Given the description of an element on the screen output the (x, y) to click on. 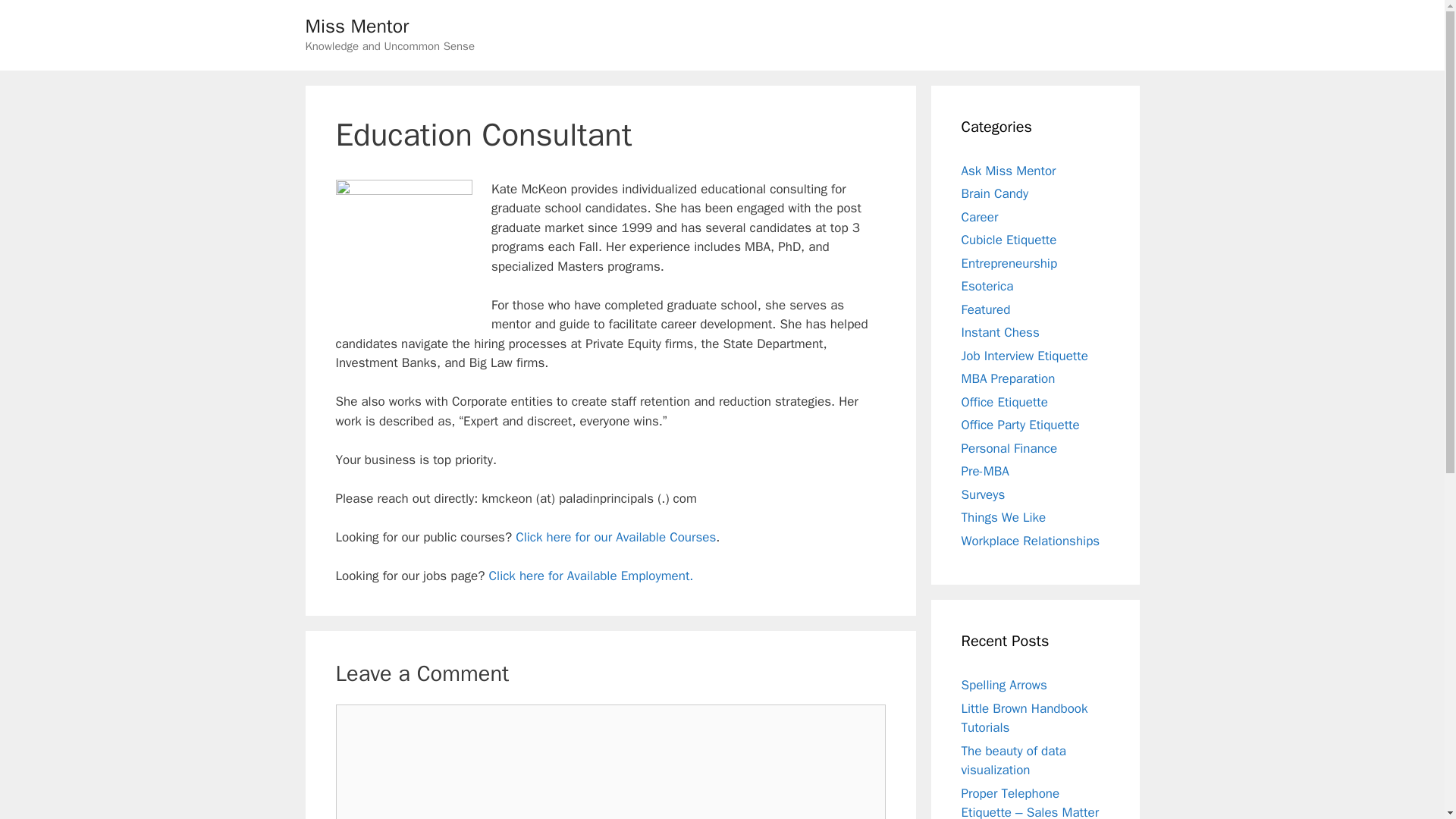
Click here for our Available Courses (615, 537)
Instant Chess (999, 332)
Workplace Relationships (1030, 539)
Things We Like (1003, 517)
Office Party Etiquette (1020, 424)
Esoterica (986, 286)
Personal Finance (1009, 447)
Spelling Arrows (1003, 684)
Little Brown Handbook Tutorials (1023, 718)
Job Interview Etiquette (1023, 355)
